Given the description of an element on the screen output the (x, y) to click on. 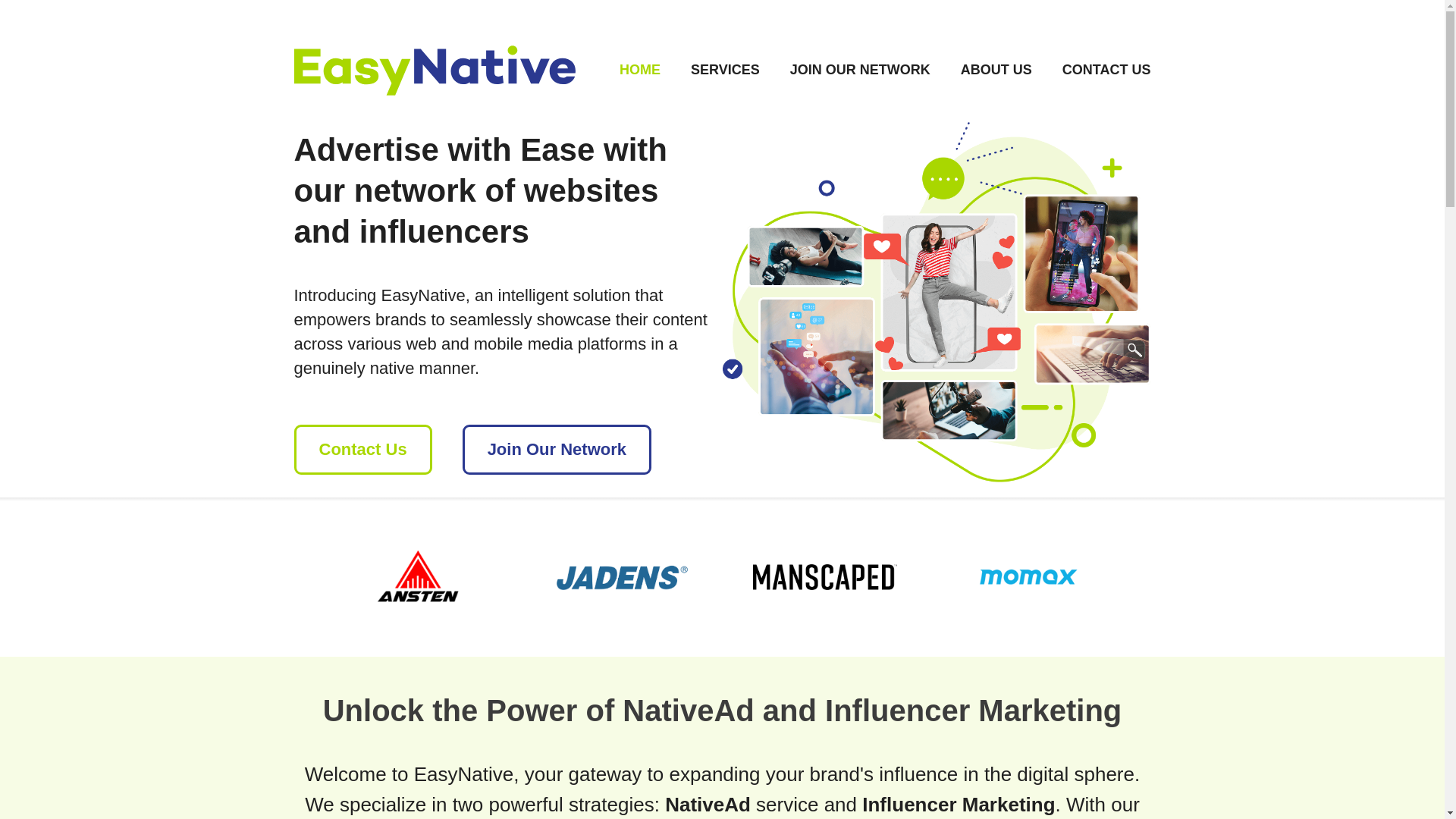
CONTACT US (1106, 71)
JOIN OUR NETWORK (860, 71)
HOME (640, 71)
Join Our Network (556, 450)
ABOUT US (996, 71)
Contact Us (363, 450)
SERVICES (725, 71)
